Given the description of an element on the screen output the (x, y) to click on. 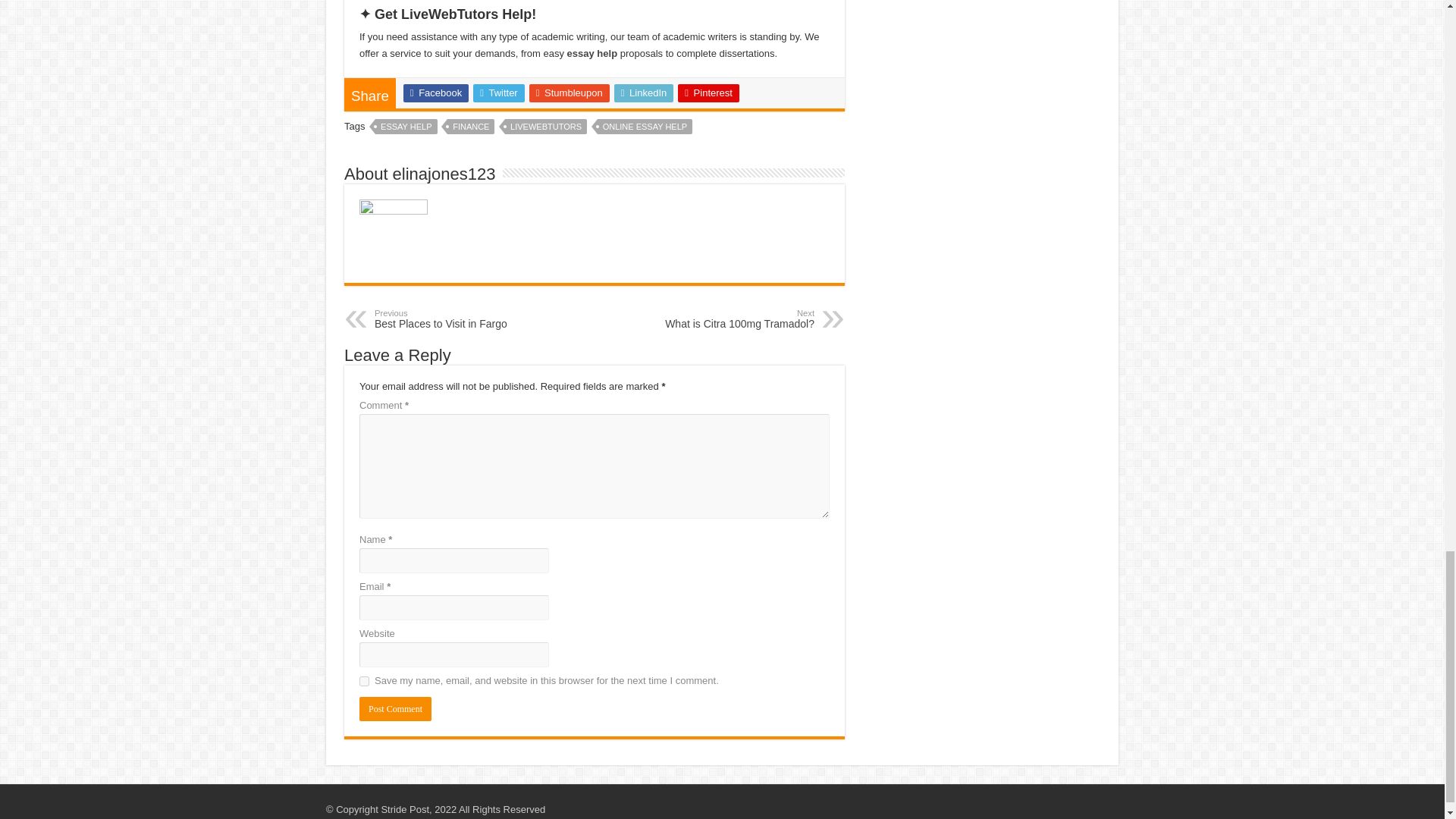
Post Comment (394, 708)
yes (364, 681)
